Given the description of an element on the screen output the (x, y) to click on. 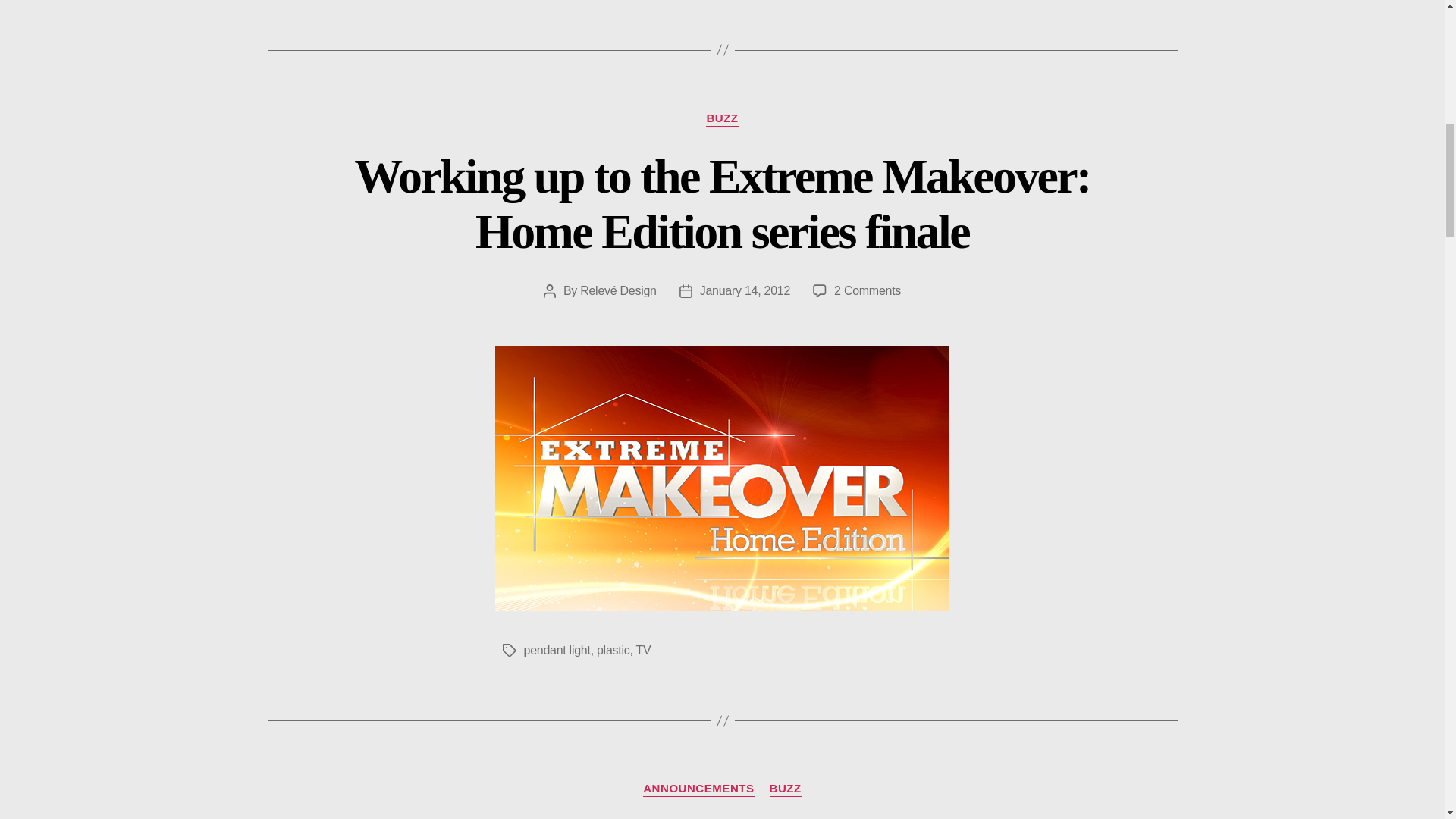
BUZZ (722, 118)
January 14, 2012 (745, 290)
